Given the description of an element on the screen output the (x, y) to click on. 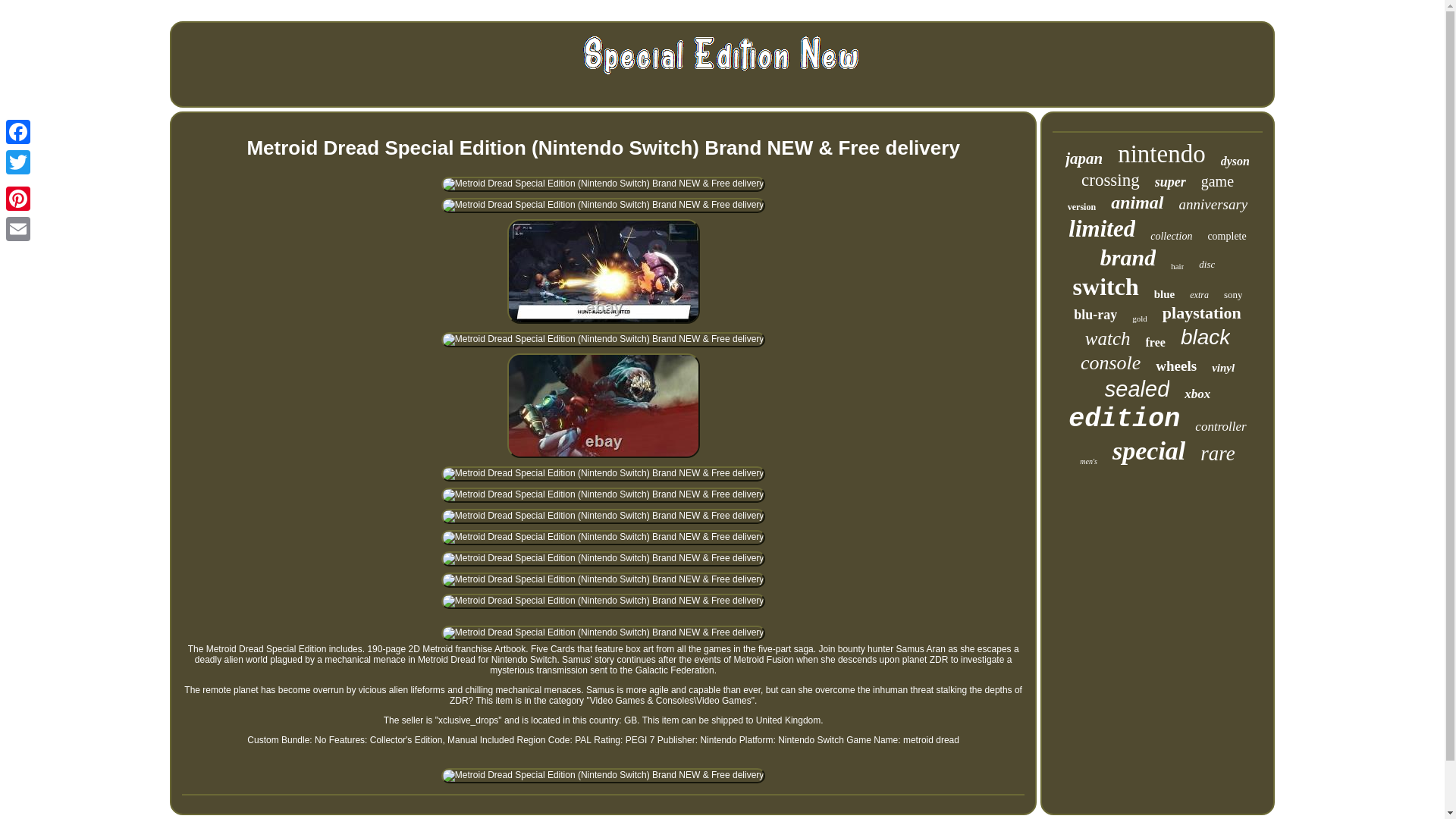
Facebook (17, 132)
console (1110, 363)
limited (1101, 228)
free (1155, 342)
complete (1226, 236)
Twitter (17, 162)
super (1170, 182)
dyson (1235, 161)
vinyl (1222, 367)
Pinterest (17, 198)
